Given the description of an element on the screen output the (x, y) to click on. 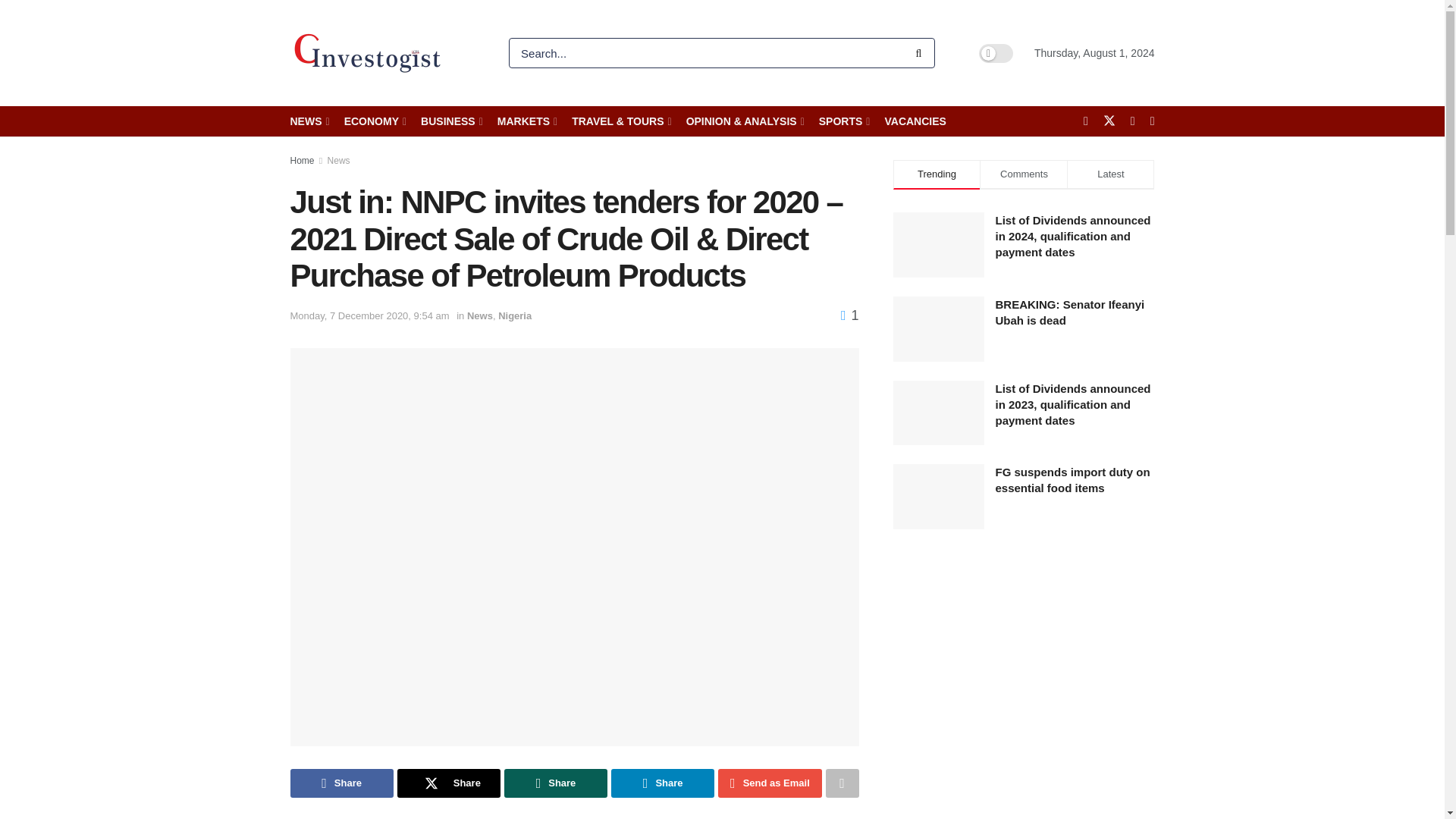
NEWS (307, 120)
ECONOMY (373, 120)
